Given the description of an element on the screen output the (x, y) to click on. 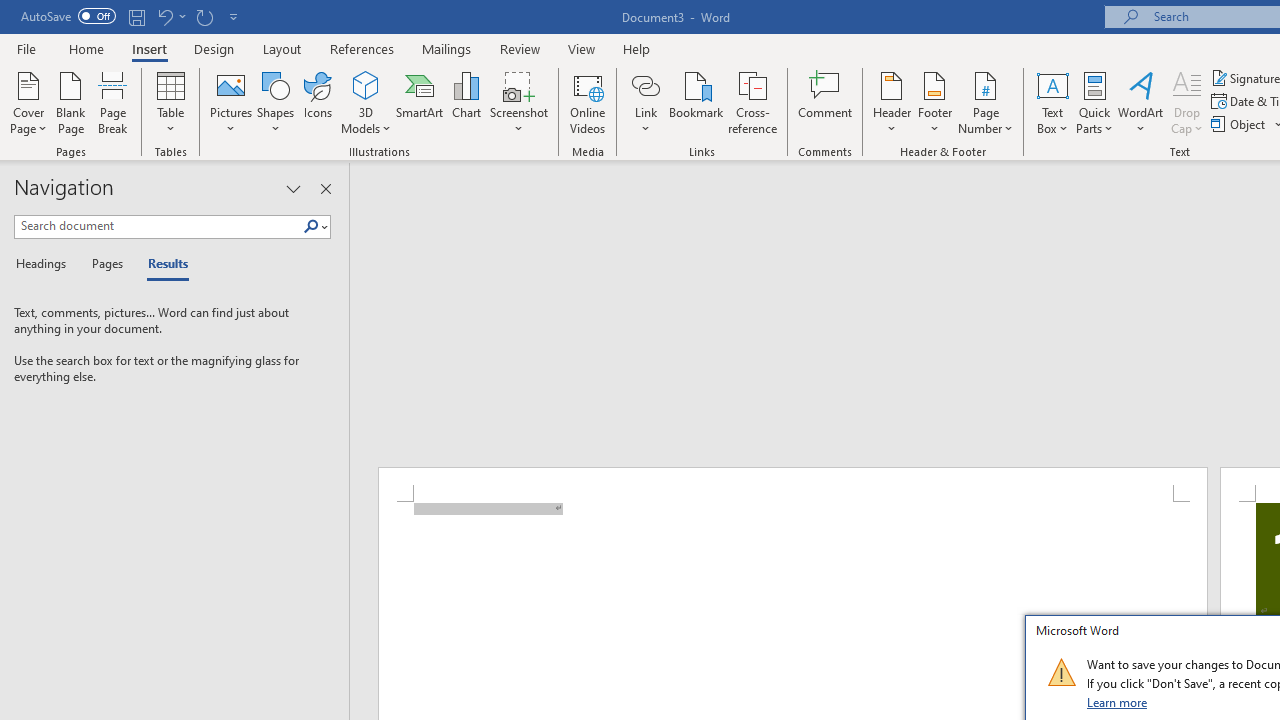
Object... (1240, 124)
Layout (282, 48)
Search (311, 227)
Home (86, 48)
Page Break (113, 102)
Task Pane Options (293, 188)
Undo New Page (170, 15)
Footer (934, 102)
AutoSave (68, 16)
Blank Page (70, 102)
Undo New Page (164, 15)
Close pane (325, 188)
Search (315, 227)
